Given the description of an element on the screen output the (x, y) to click on. 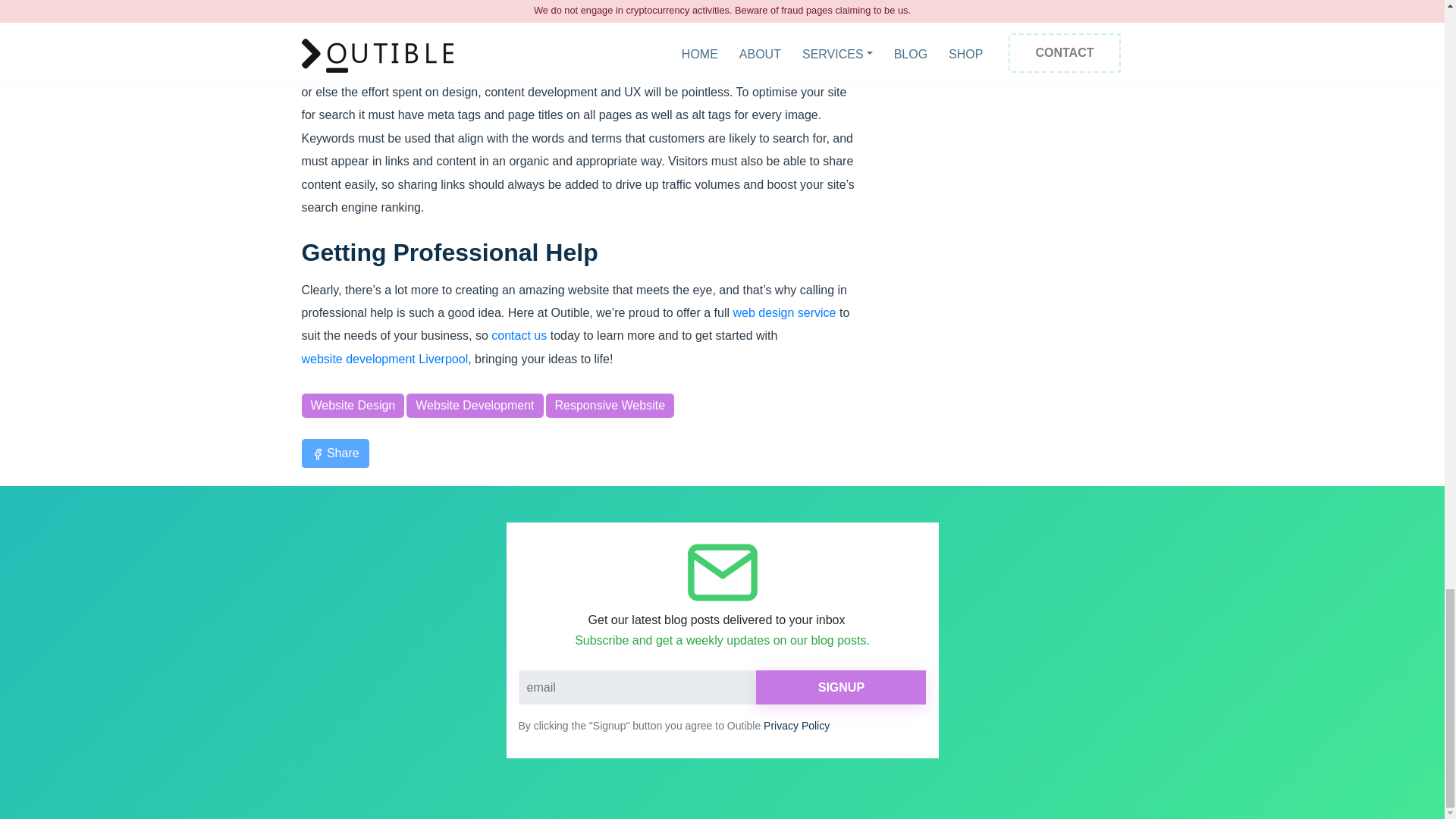
contact us (519, 335)
Website Design (352, 405)
web design service (783, 313)
website development Liverpool (384, 359)
Share (335, 452)
Website Development (474, 405)
Responsive Website (610, 405)
